Given the description of an element on the screen output the (x, y) to click on. 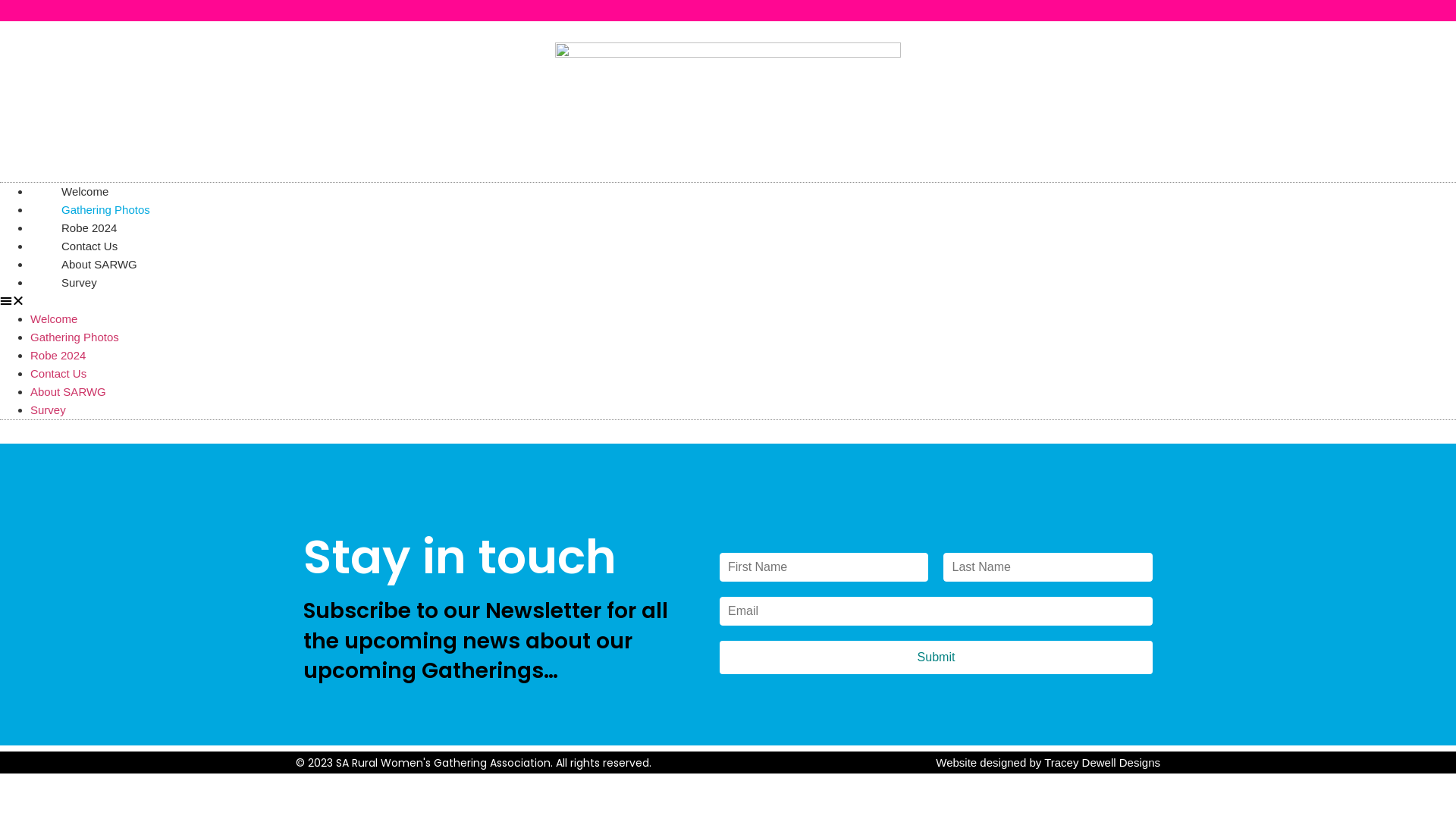
About SARWG Element type: text (99, 263)
Robe 2024 Element type: text (57, 354)
Robe 2024 Element type: text (88, 227)
Gathering Photos Element type: text (105, 209)
About SARWG Element type: text (68, 391)
Survey Element type: text (79, 282)
Submit Element type: text (935, 657)
Survey Element type: text (47, 409)
Gathering Photos Element type: text (74, 336)
Welcome Element type: text (84, 191)
Welcome Element type: text (53, 318)
Contact Us Element type: text (89, 245)
Tracey Dewell Designs Element type: text (1102, 762)
Contact Us Element type: text (58, 373)
